Given the description of an element on the screen output the (x, y) to click on. 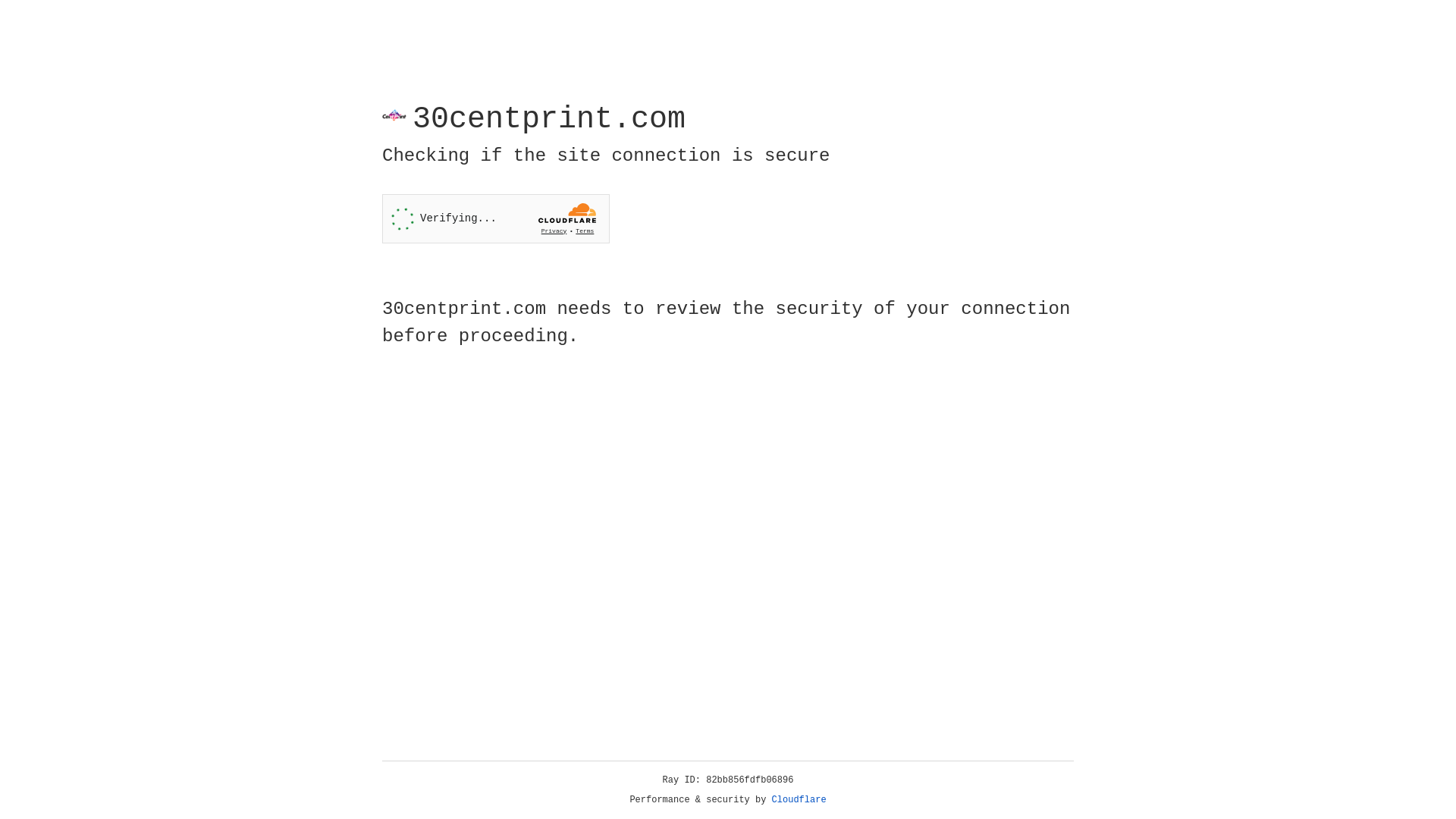
Widget containing a Cloudflare security challenge Element type: hover (495, 218)
Cloudflare Element type: text (798, 799)
